Given the description of an element on the screen output the (x, y) to click on. 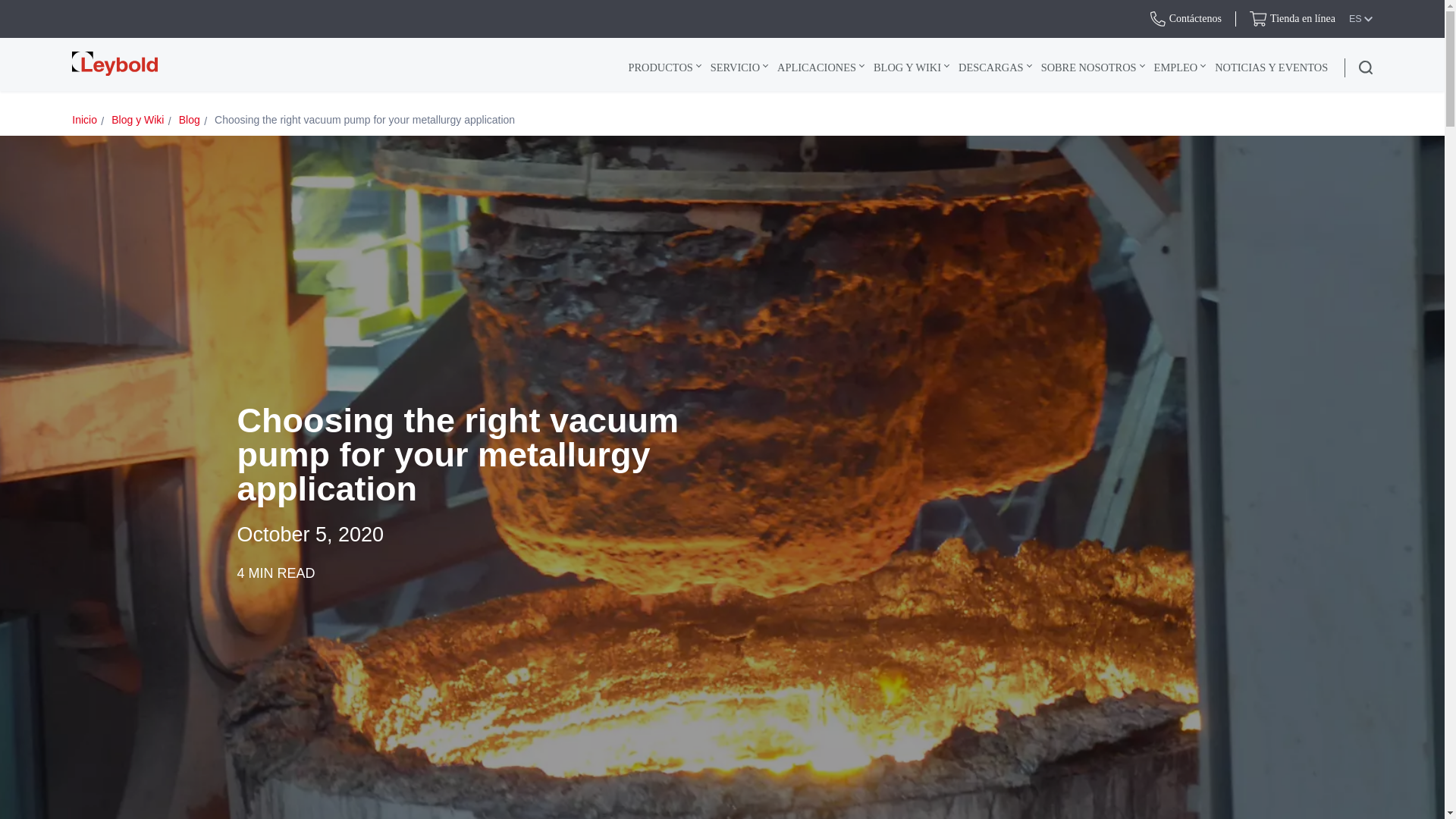
ES (1361, 19)
